Given the description of an element on the screen output the (x, y) to click on. 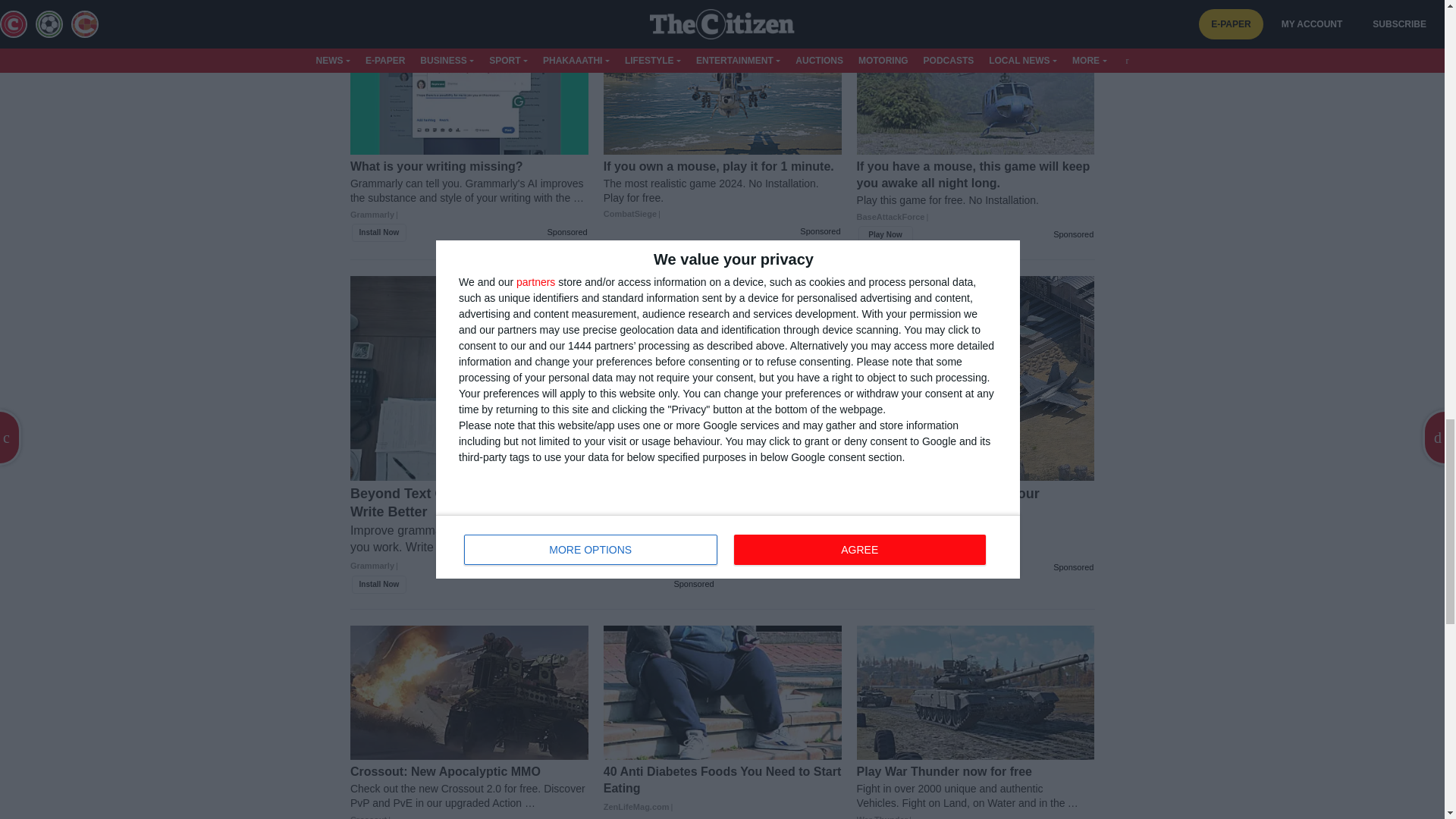
If you own a mouse, play it for 1 minute. (722, 189)
What is your writing missing? (469, 197)
40 Anti Diabetes Foods You Need to Start Eating (722, 788)
Crossout: New Apocalyptic MMO (469, 791)
